Given the description of an element on the screen output the (x, y) to click on. 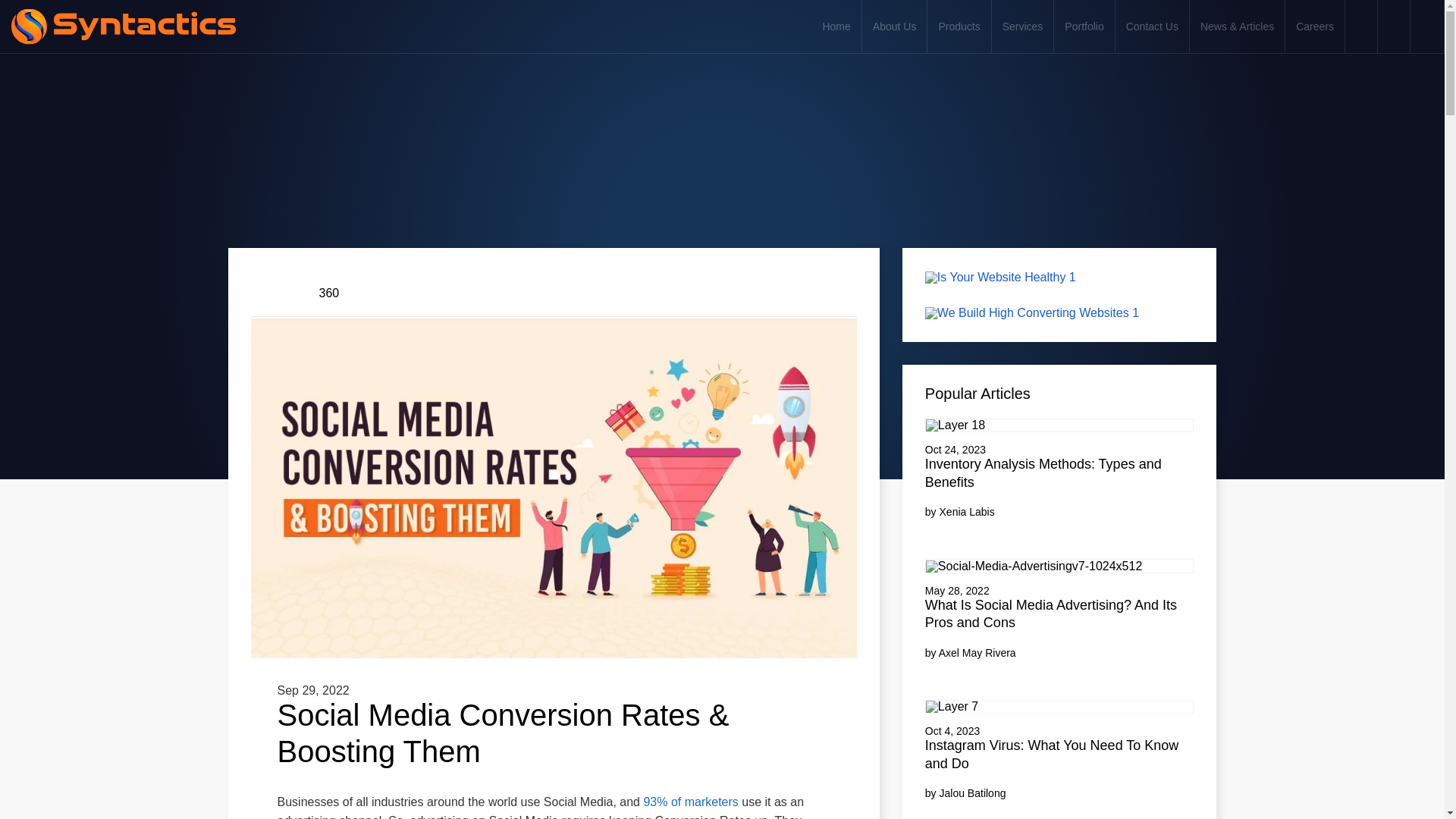
Home (835, 26)
Contact Us (1152, 26)
Products (959, 26)
About Us (894, 26)
Portfolio (1084, 26)
Careers (1315, 26)
Services (1022, 26)
